Given the description of an element on the screen output the (x, y) to click on. 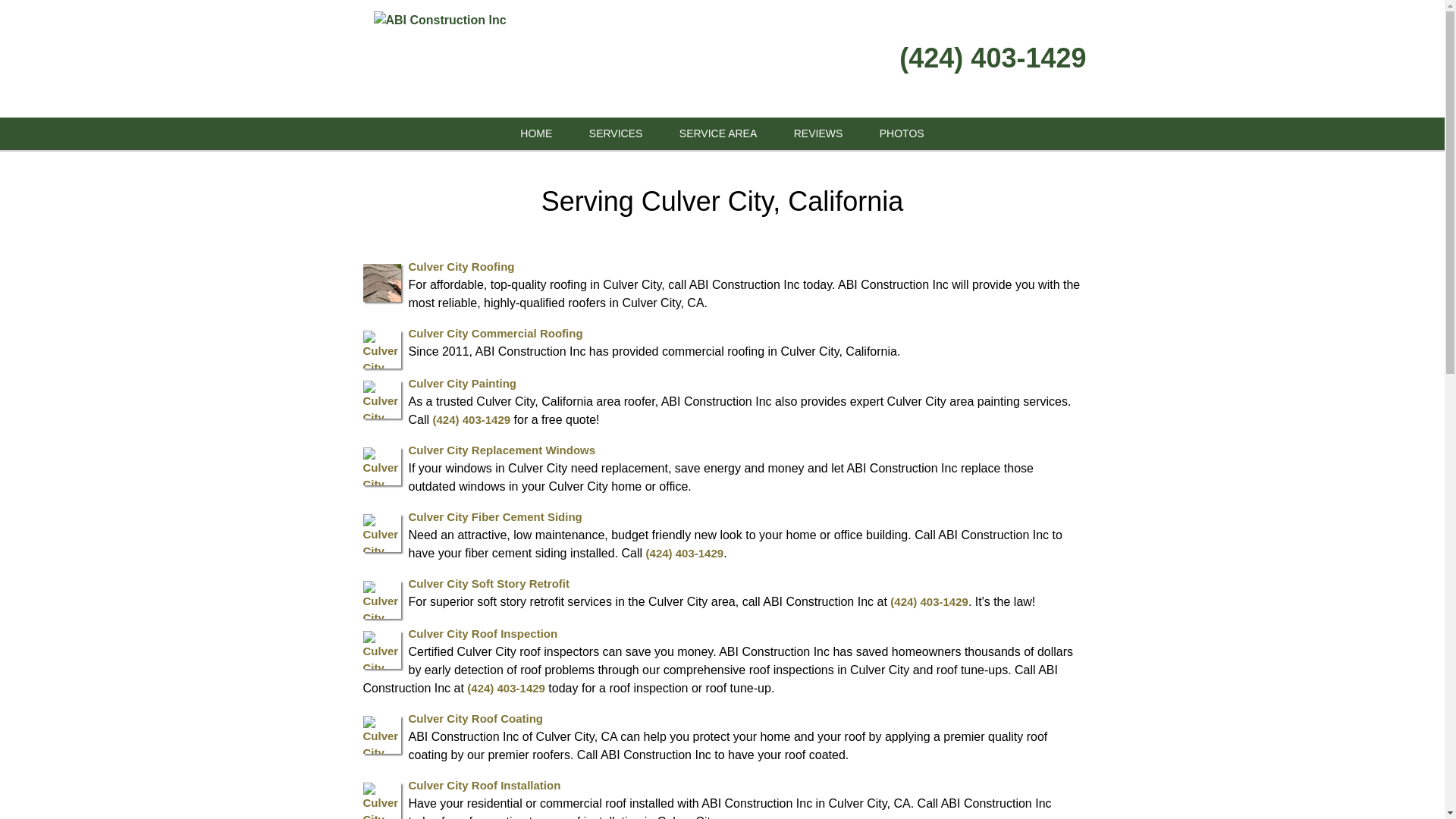
HOME (536, 133)
Culver City Painting (461, 382)
Culver City Commercial Roofing (494, 332)
Culver City Roof Installation (483, 784)
Culver City Replacement Windows (501, 449)
Culver City Fiber Cement Siding (493, 515)
Culver City Roof Inspection (482, 632)
Culver City Roof Coating (475, 717)
Culver City Soft Story Retrofit (488, 582)
SERVICES (615, 133)
SERVICE AREA (717, 133)
Culver City Roofing (460, 265)
PHOTOS (901, 133)
REVIEWS (818, 133)
